Given the description of an element on the screen output the (x, y) to click on. 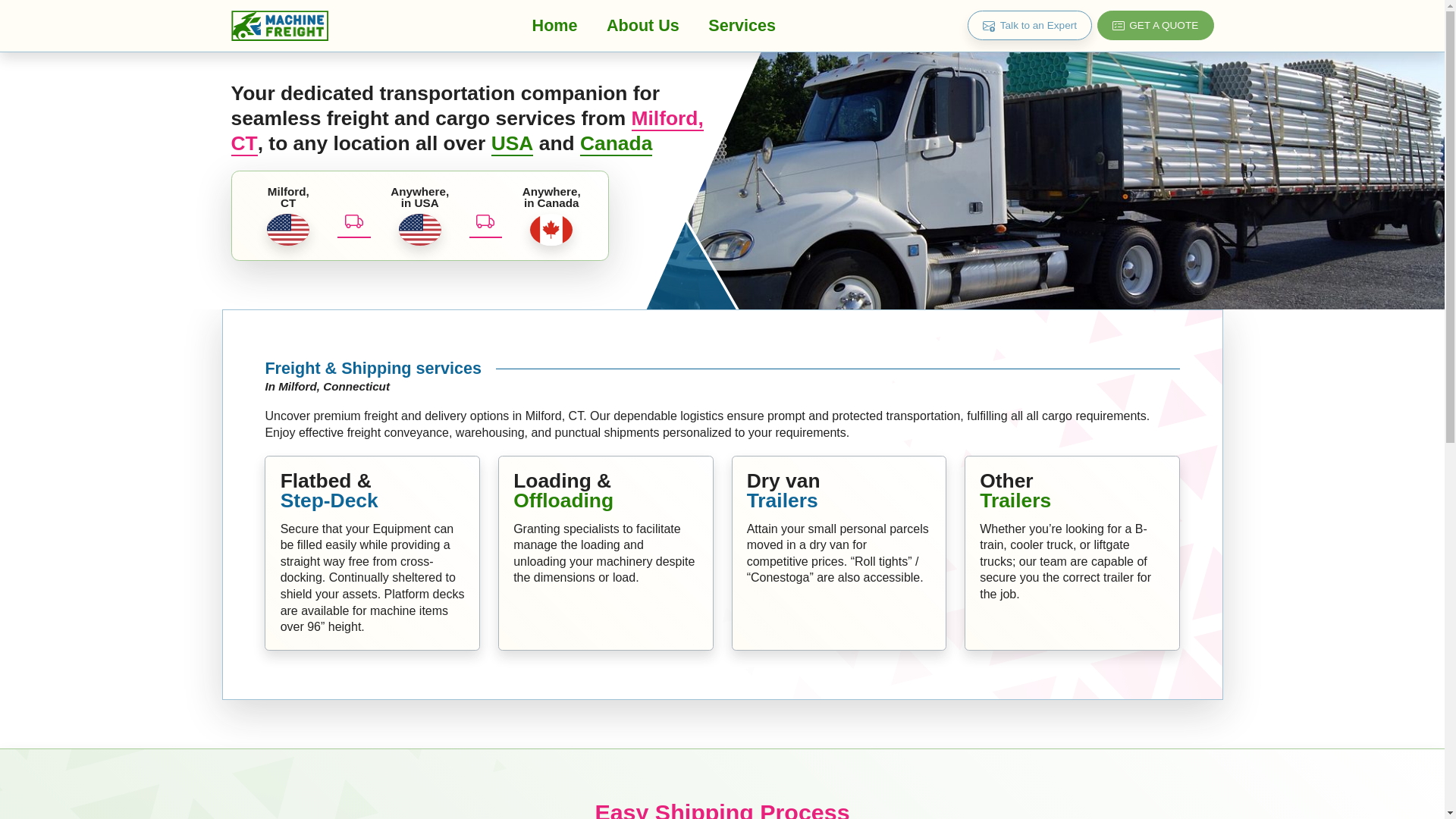
Home (553, 24)
GET A QUOTE (1155, 25)
Talk to an Expert (1030, 25)
About Us (643, 24)
Services (742, 24)
